Given the description of an element on the screen output the (x, y) to click on. 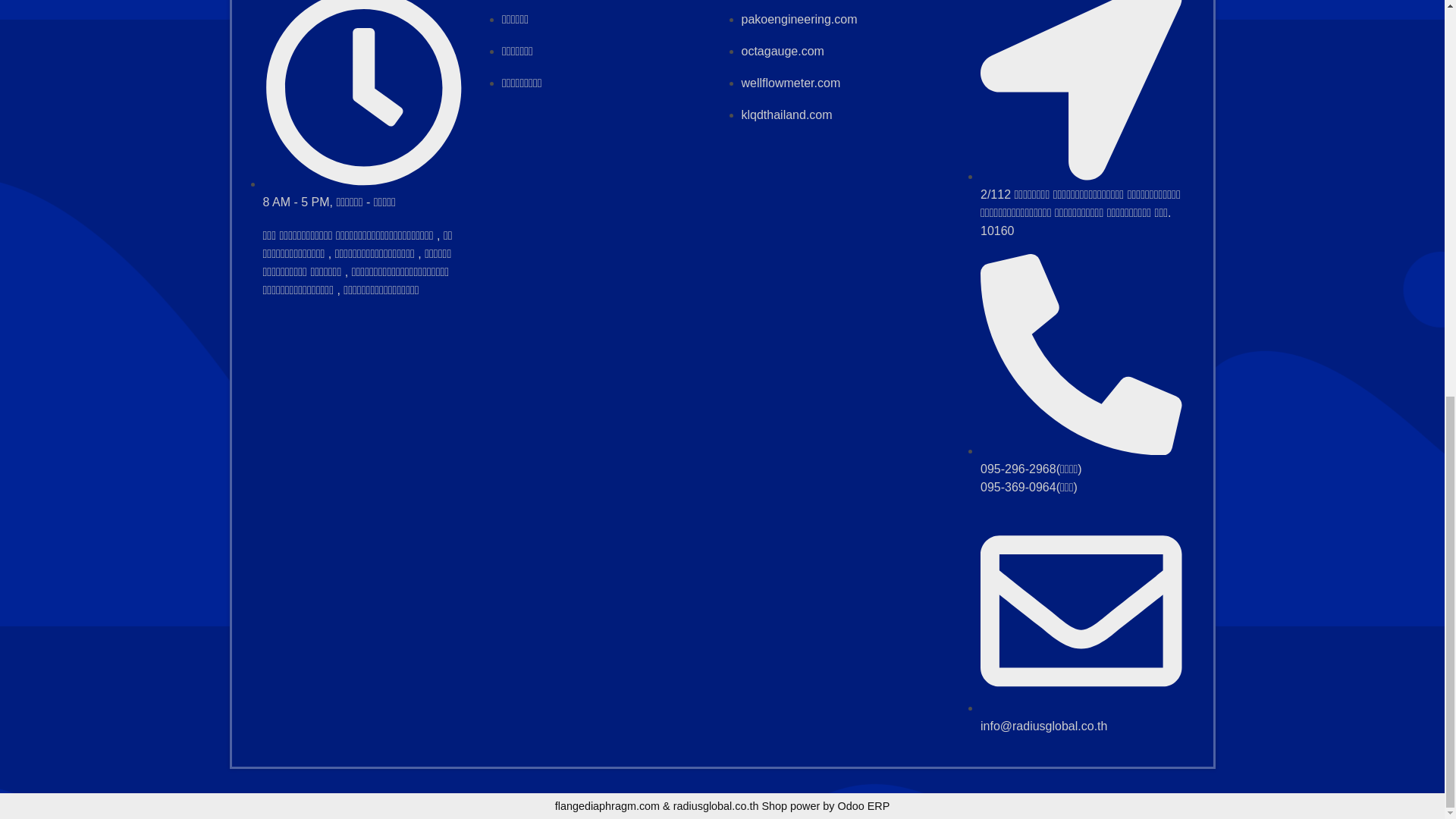
pakoengineering.com (799, 19)
klqdthailand.com (786, 114)
wellflowmeter.com (791, 82)
octagauge.com (782, 51)
